Given the description of an element on the screen output the (x, y) to click on. 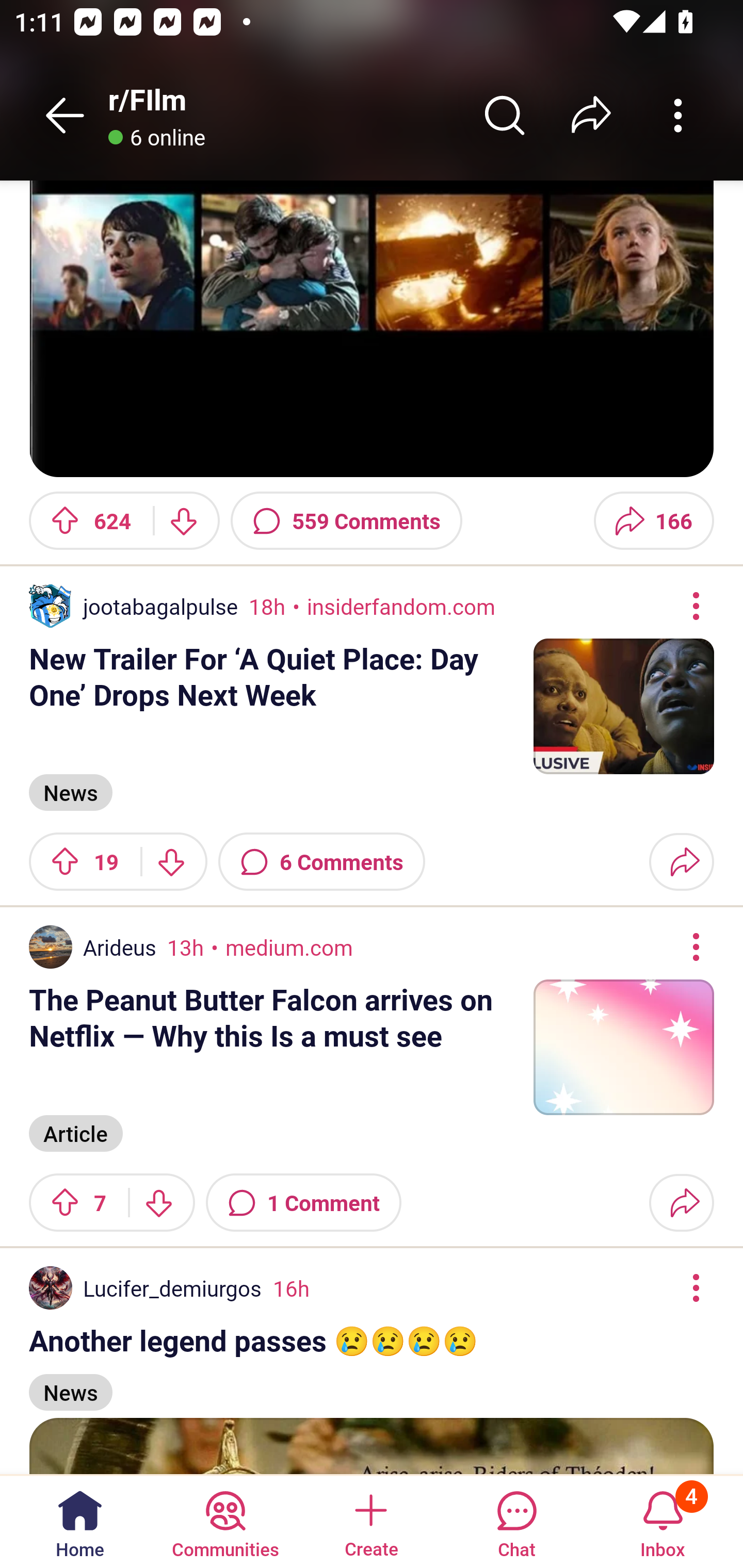
Back (64, 115)
Search r/﻿FIlm (504, 115)
Share r/﻿FIlm (591, 115)
More community actions (677, 115)
News (70, 792)
Article (75, 1130)
News (70, 1383)
Home (80, 1520)
Communities (225, 1520)
Create a post Create (370, 1520)
Chat (516, 1520)
Inbox, has 4 notifications 4 Inbox (662, 1520)
